Given the description of an element on the screen output the (x, y) to click on. 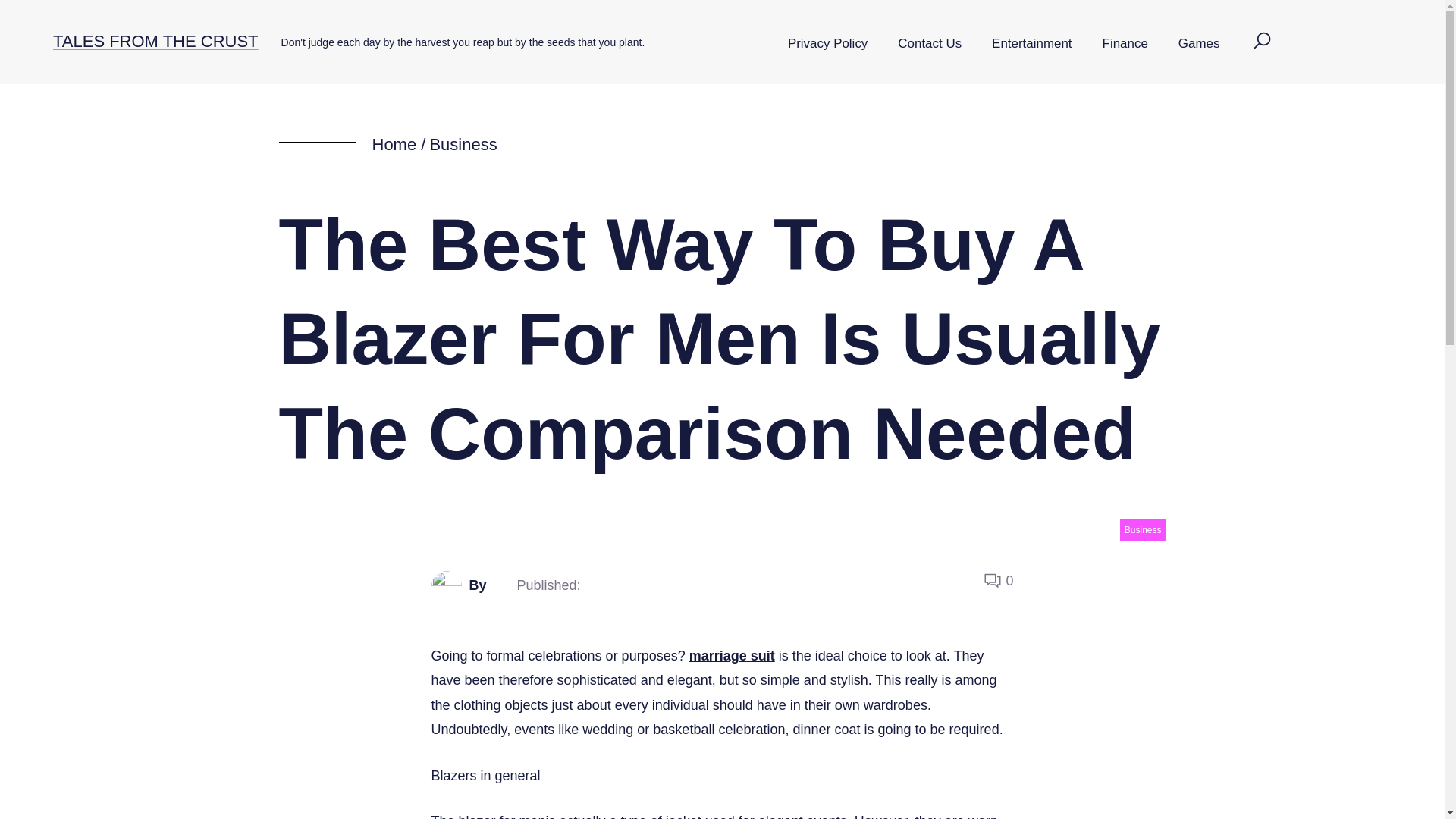
TALES FROM THE CRUST (155, 40)
Games (1198, 43)
Contact Us (929, 43)
marriage suit (731, 655)
Privacy Policy (827, 43)
Finance (1125, 43)
Business (1142, 529)
Business (462, 144)
Home (393, 144)
Entertainment (1031, 43)
